Given the description of an element on the screen output the (x, y) to click on. 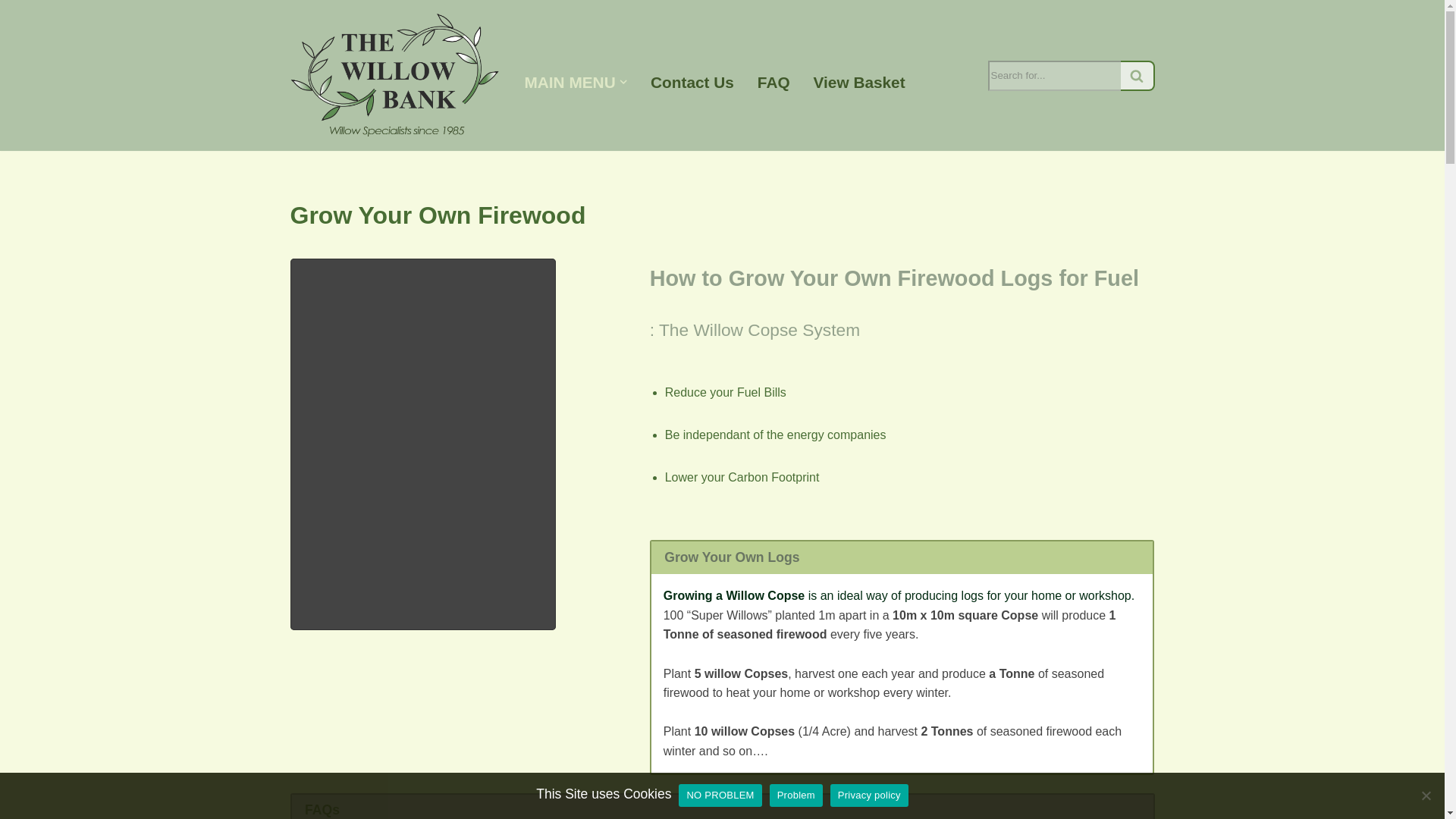
MAIN MENU (569, 81)
Problem (1425, 795)
View Basket (859, 81)
Contact Us (691, 81)
Skip to content (11, 31)
